Given the description of an element on the screen output the (x, y) to click on. 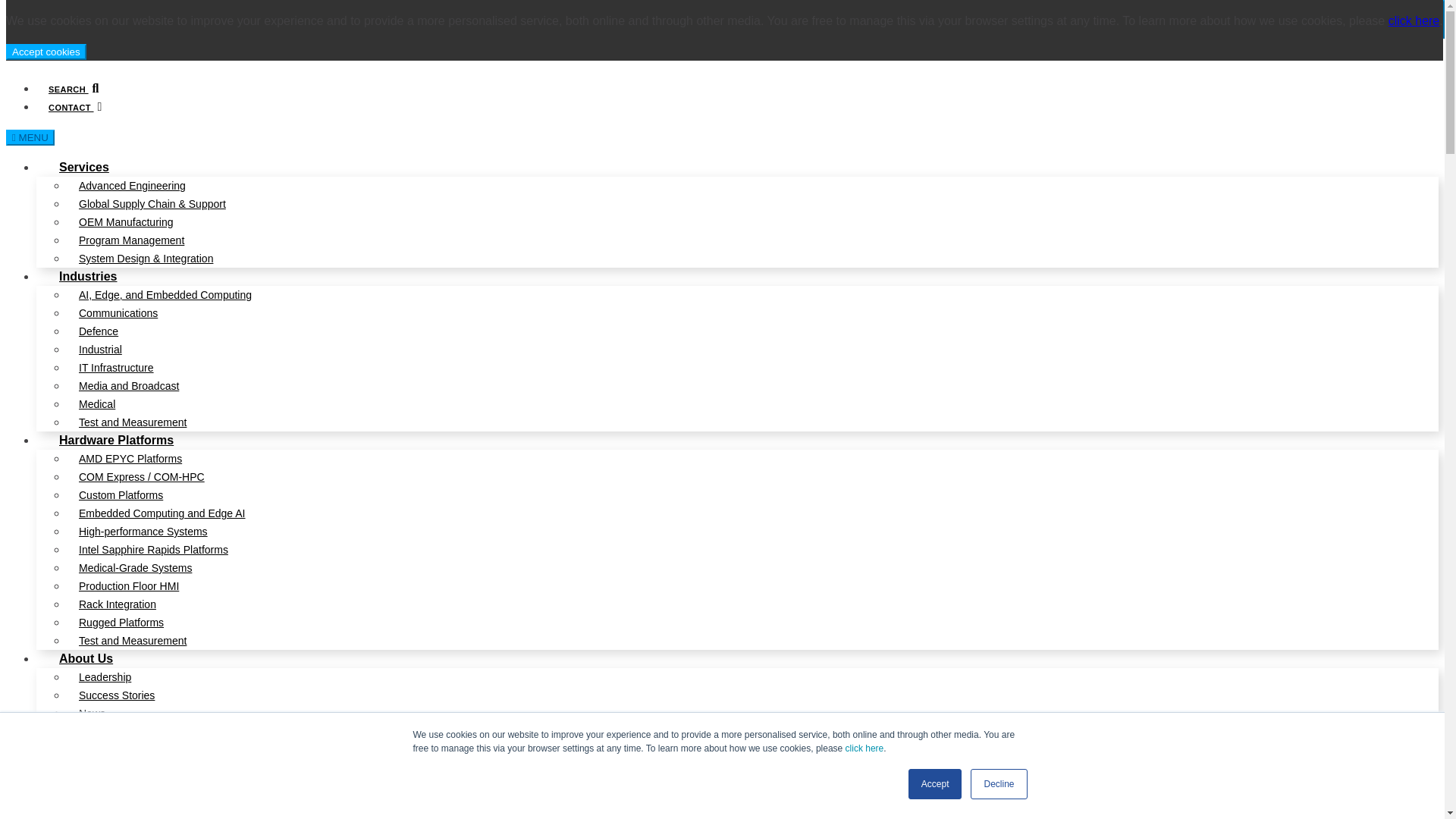
Blog (83, 731)
Services (82, 162)
CONTACT (68, 107)
Custom Platforms (120, 495)
Accept (935, 784)
MENU (30, 137)
About Us (74, 653)
Success Stories (110, 695)
Industrial (99, 349)
Communications (118, 312)
Defence (98, 331)
Defence (98, 331)
Rack Integration (117, 604)
Program Management (131, 239)
Test and Measurement (126, 422)
